Given the description of an element on the screen output the (x, y) to click on. 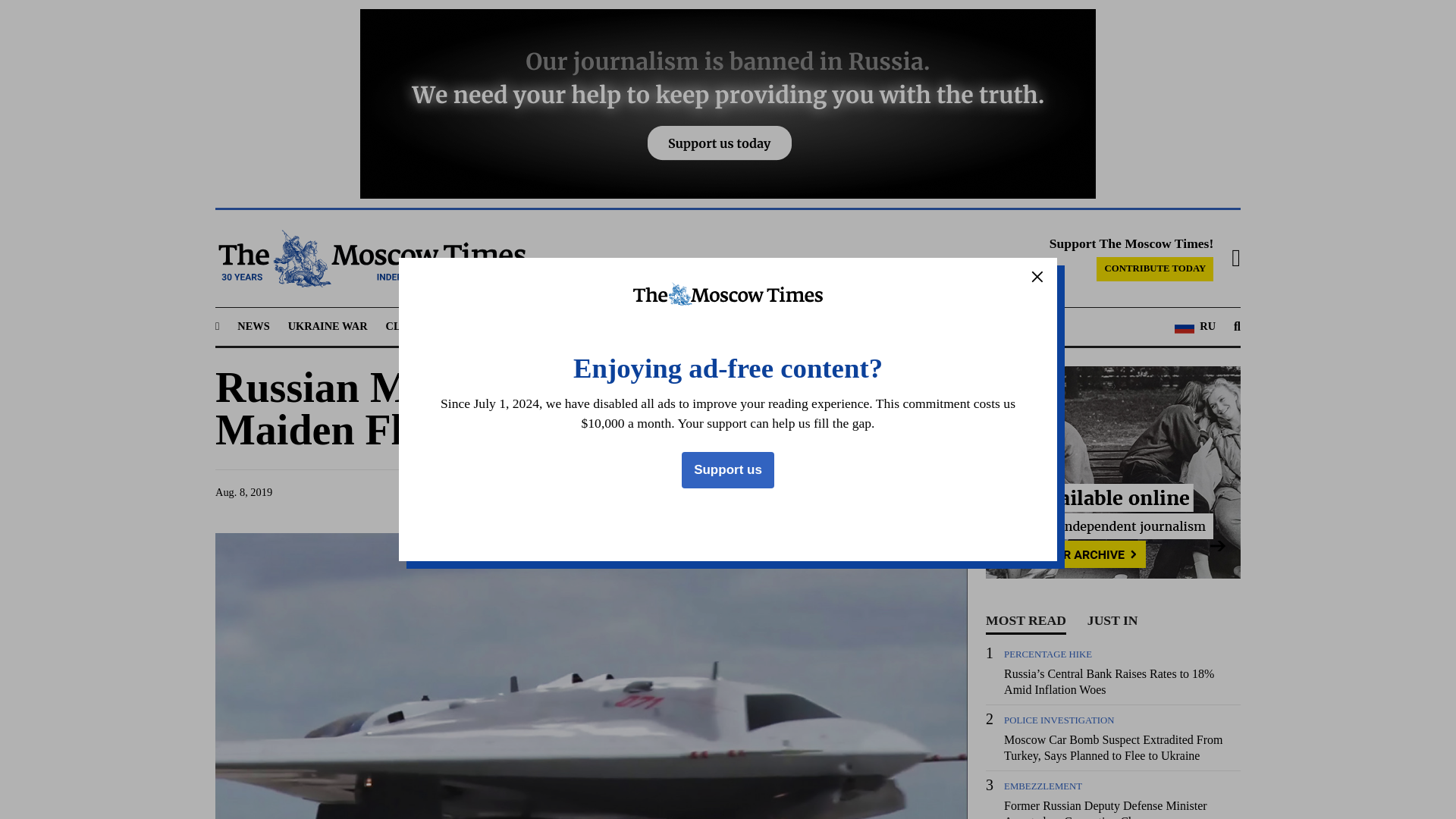
UKRAINE WAR (328, 326)
MEANWHILE (629, 326)
Share on Telegram (838, 492)
The Moscow Times - Independent News from Russia (370, 258)
REGIONS (479, 326)
PODCASTS (780, 326)
CONTRIBUTE TODAY (1154, 269)
Share on Flipboard (925, 492)
OPINION (708, 326)
CLIMATE (411, 326)
BUSINESS (550, 326)
NEWS (253, 326)
RU (1194, 326)
ARCHIVE (853, 326)
Share on Twitter (810, 492)
